Given the description of an element on the screen output the (x, y) to click on. 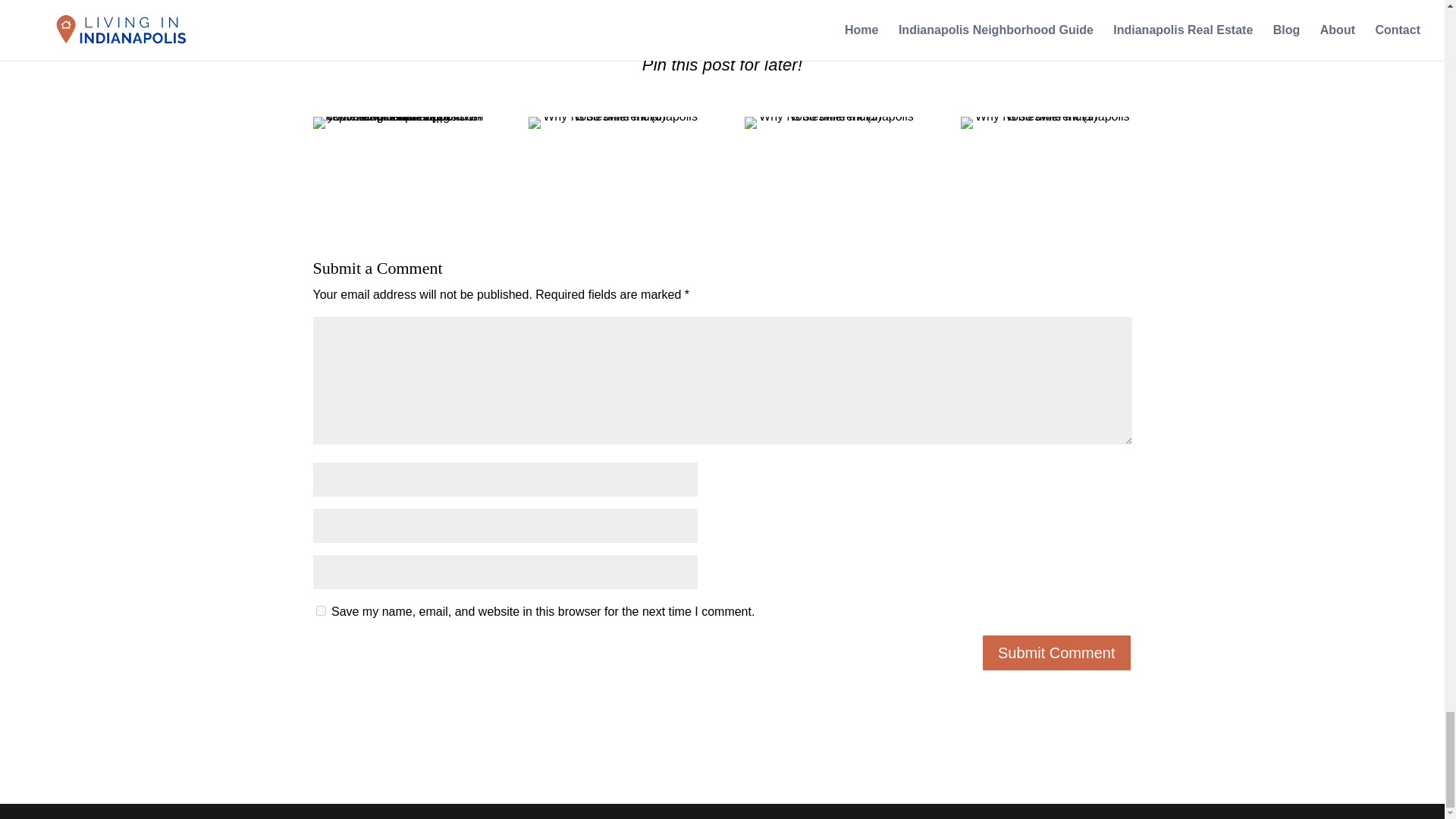
yes (319, 610)
Submit Comment (1056, 652)
